Given the description of an element on the screen output the (x, y) to click on. 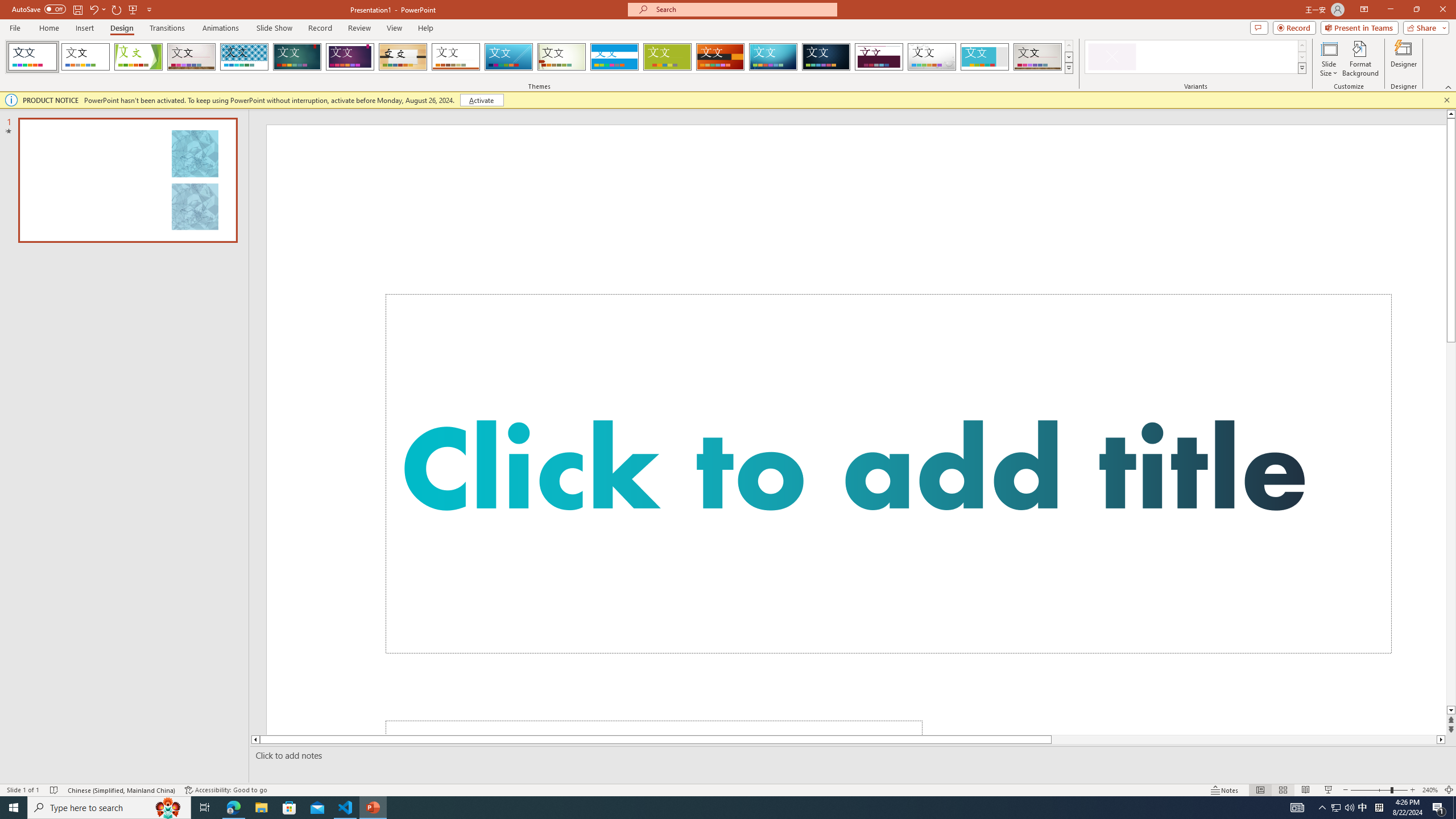
Droplet (931, 56)
Close this message (1446, 99)
Customize Quick Access Toolbar (149, 9)
Zoom Out (1370, 790)
Slide (127, 180)
Animations (220, 28)
Undo (96, 9)
Designer (1403, 58)
Class: MsoCommandBar (728, 789)
Decorative Locked (855, 429)
Review (359, 28)
Microsoft search (742, 9)
Frame (984, 56)
System (6, 6)
